Given the description of an element on the screen output the (x, y) to click on. 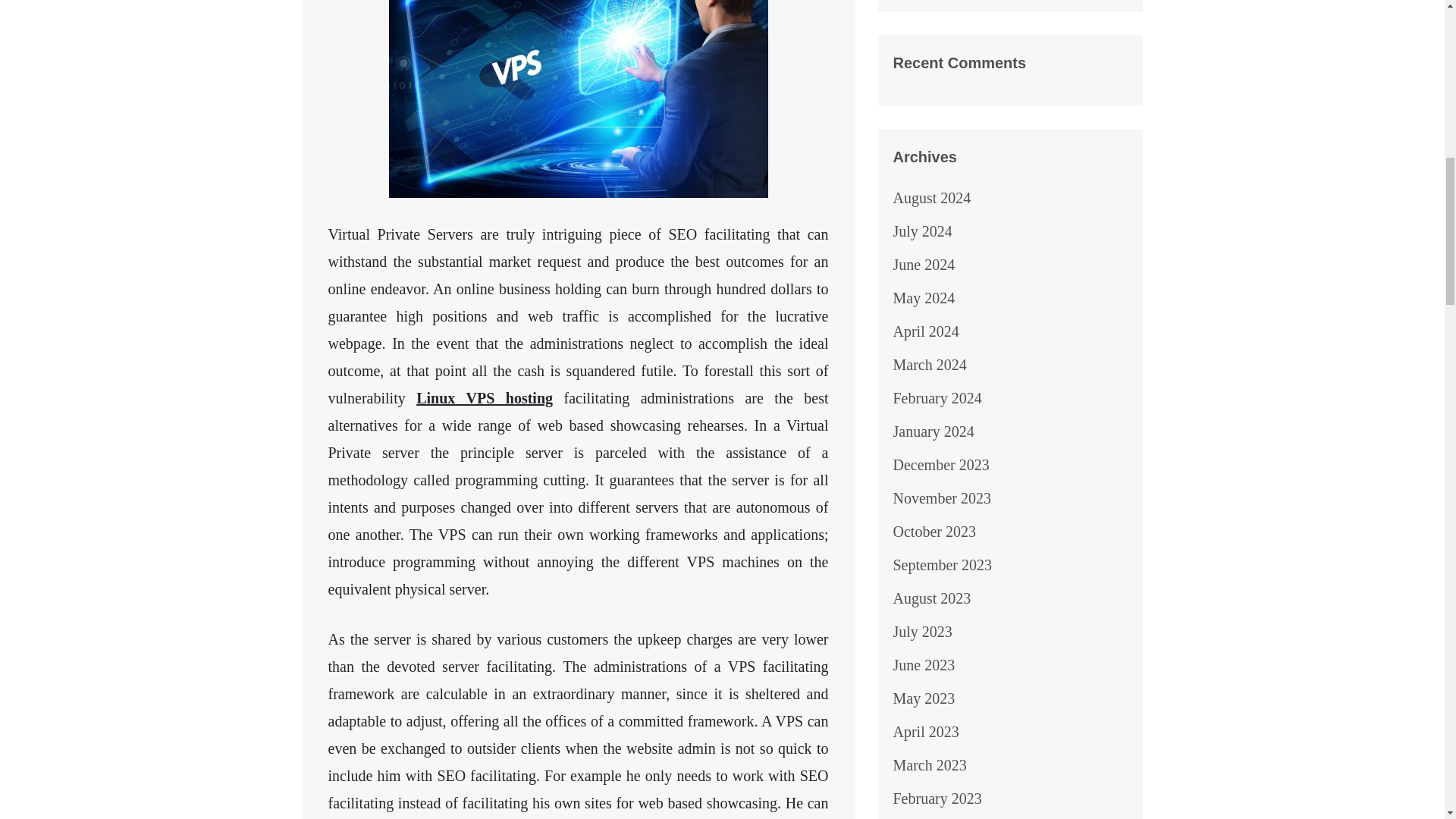
June 2024 (924, 264)
July 2024 (922, 230)
March 2024 (929, 364)
May 2023 (924, 698)
December 2023 (941, 464)
June 2023 (924, 664)
April 2024 (926, 330)
October 2023 (934, 531)
August 2023 (932, 597)
August 2024 (932, 197)
